Given the description of an element on the screen output the (x, y) to click on. 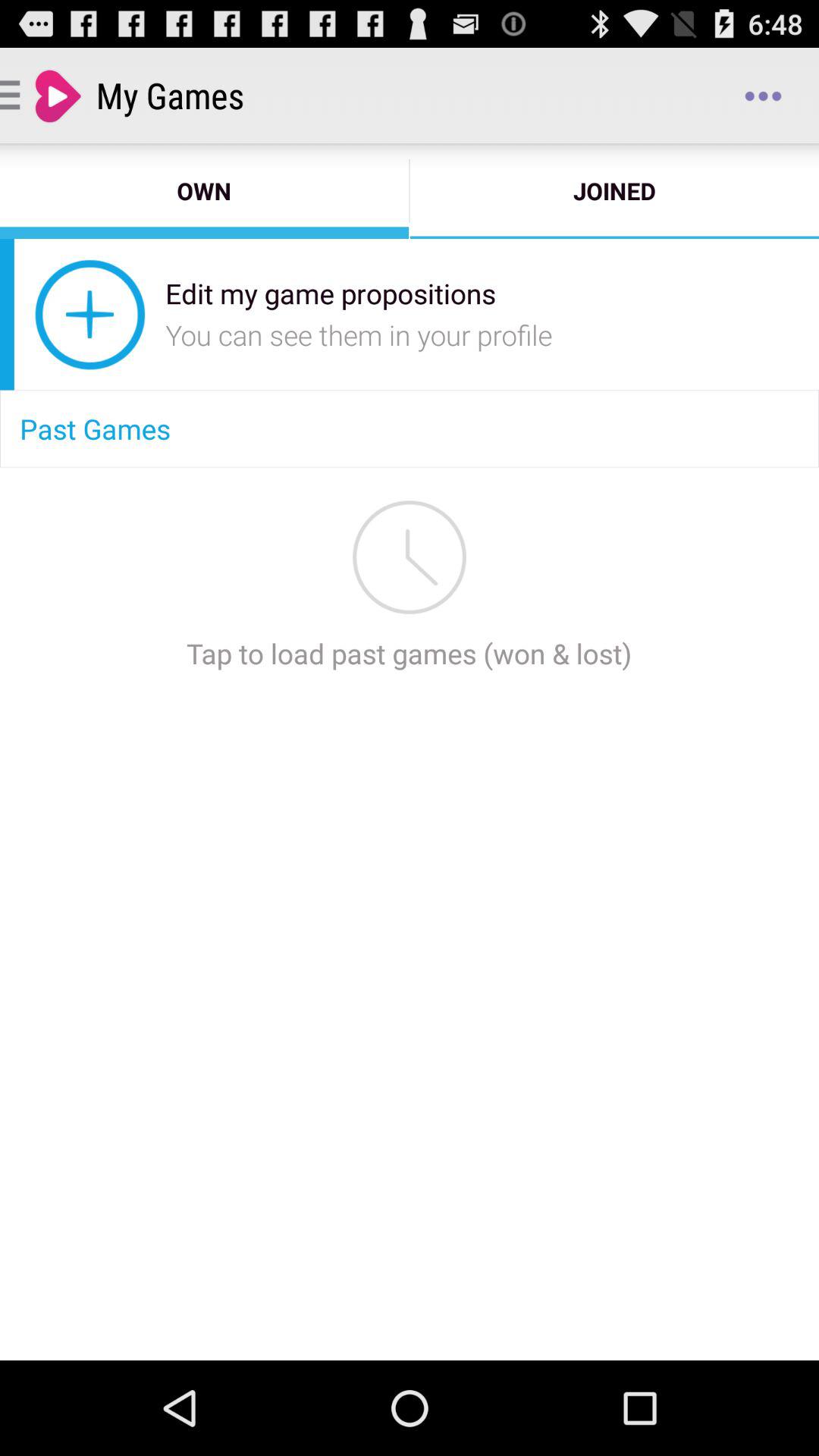
launch the app next to the my games icon (763, 95)
